Given the description of an element on the screen output the (x, y) to click on. 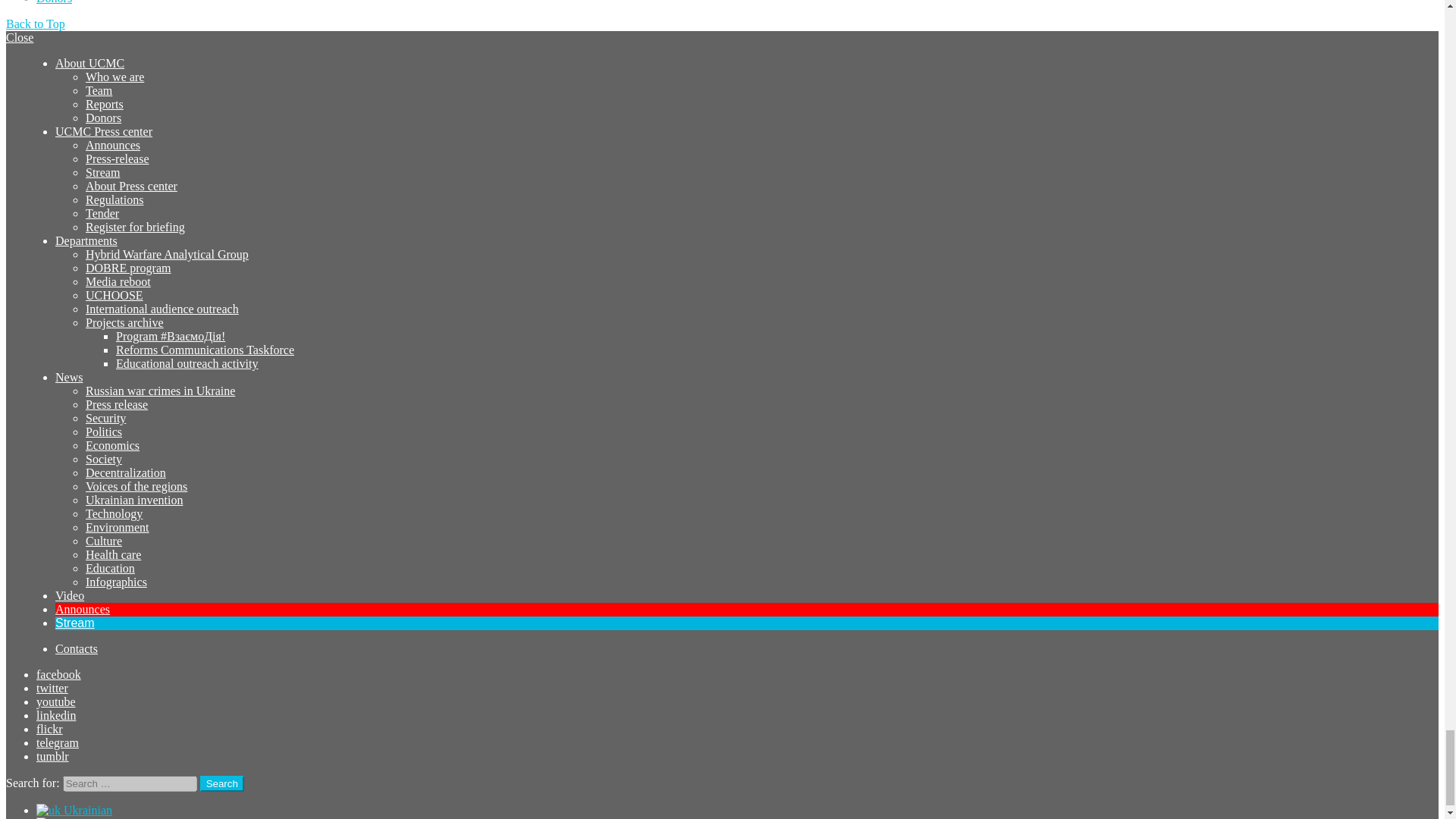
Ukrainian (48, 810)
Search for: (129, 783)
